Given the description of an element on the screen output the (x, y) to click on. 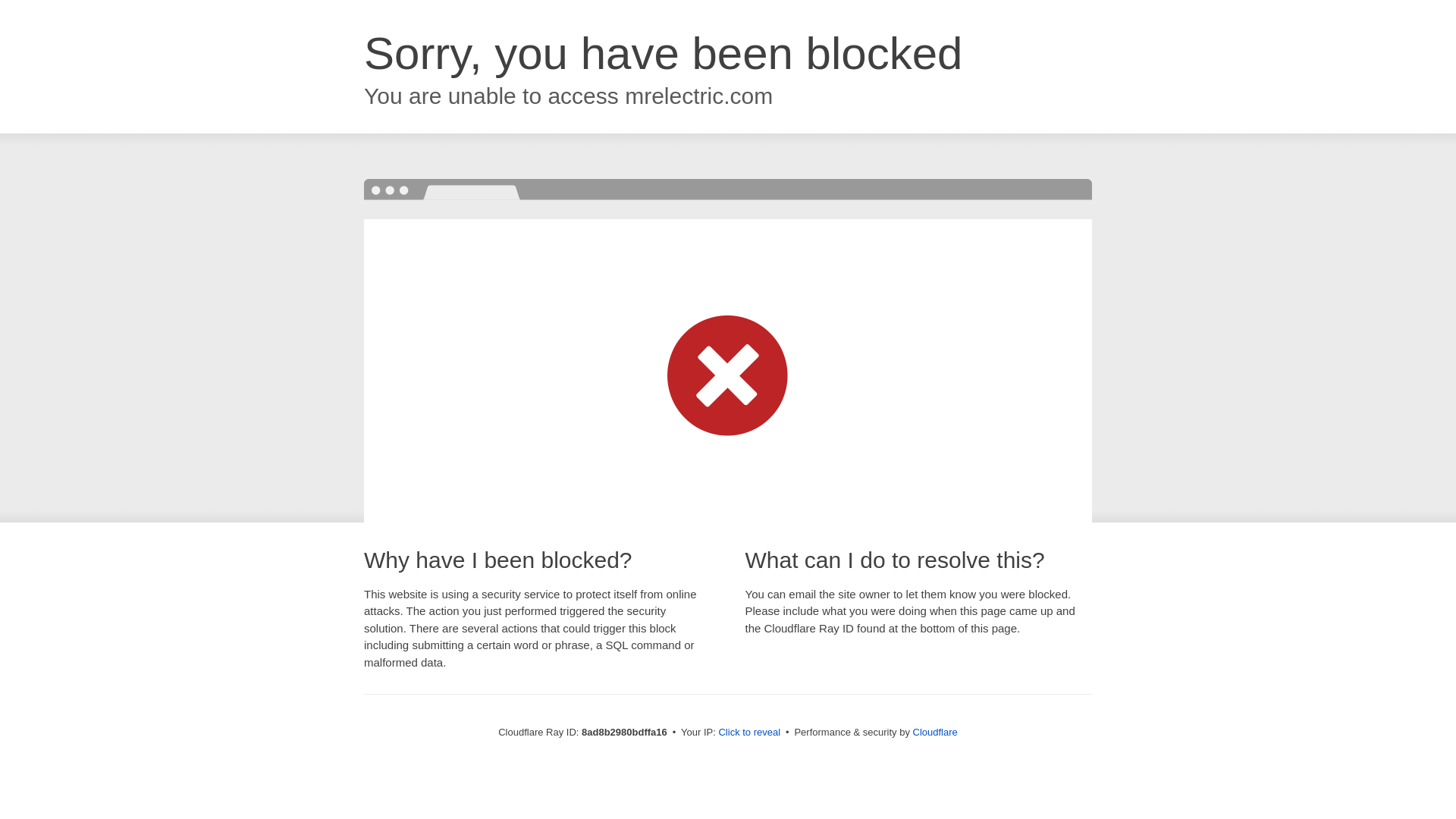
Cloudflare (935, 731)
Click to reveal (748, 732)
